Given the description of an element on the screen output the (x, y) to click on. 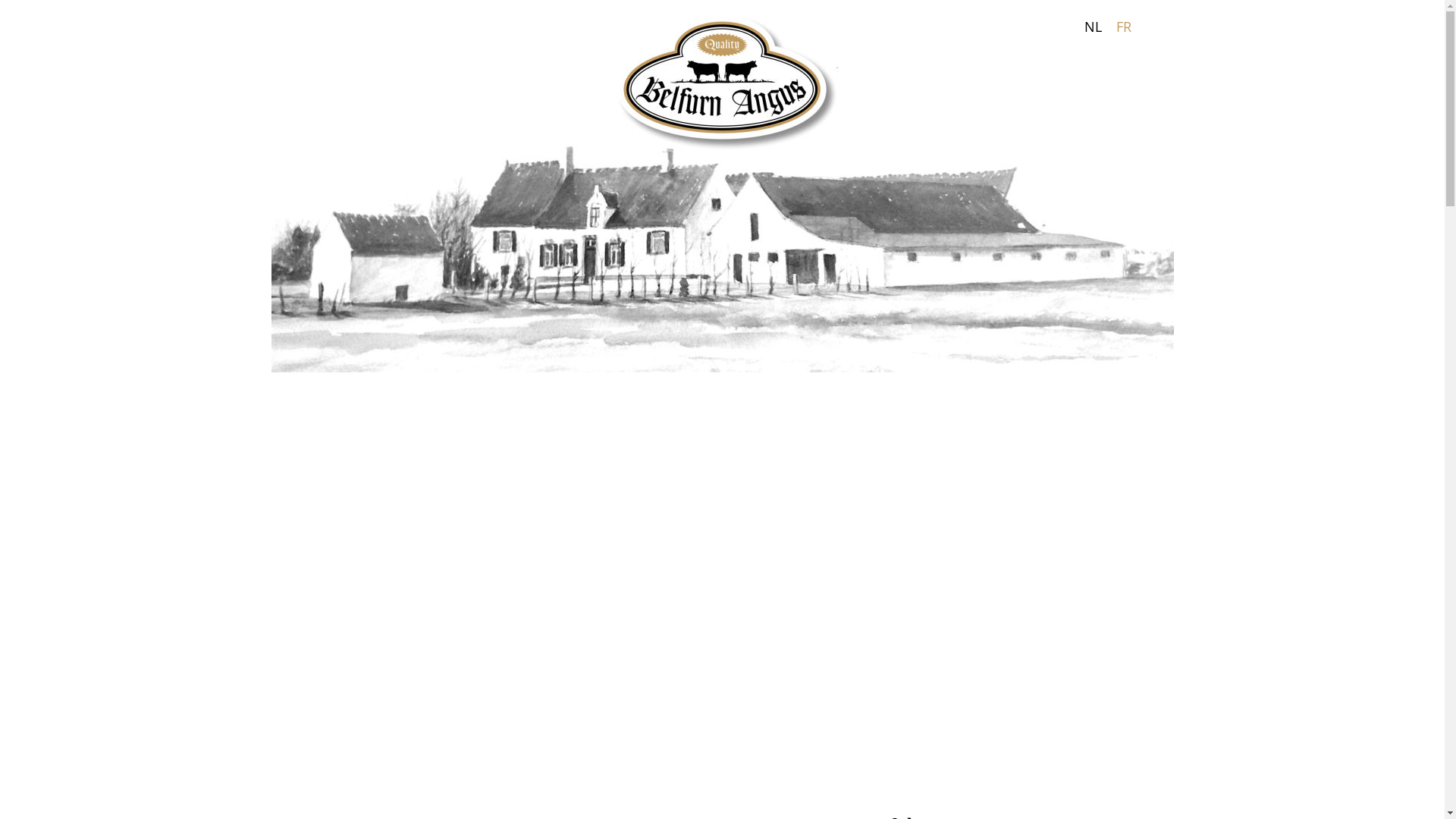
NL Element type: text (1092, 26)
